Given the description of an element on the screen output the (x, y) to click on. 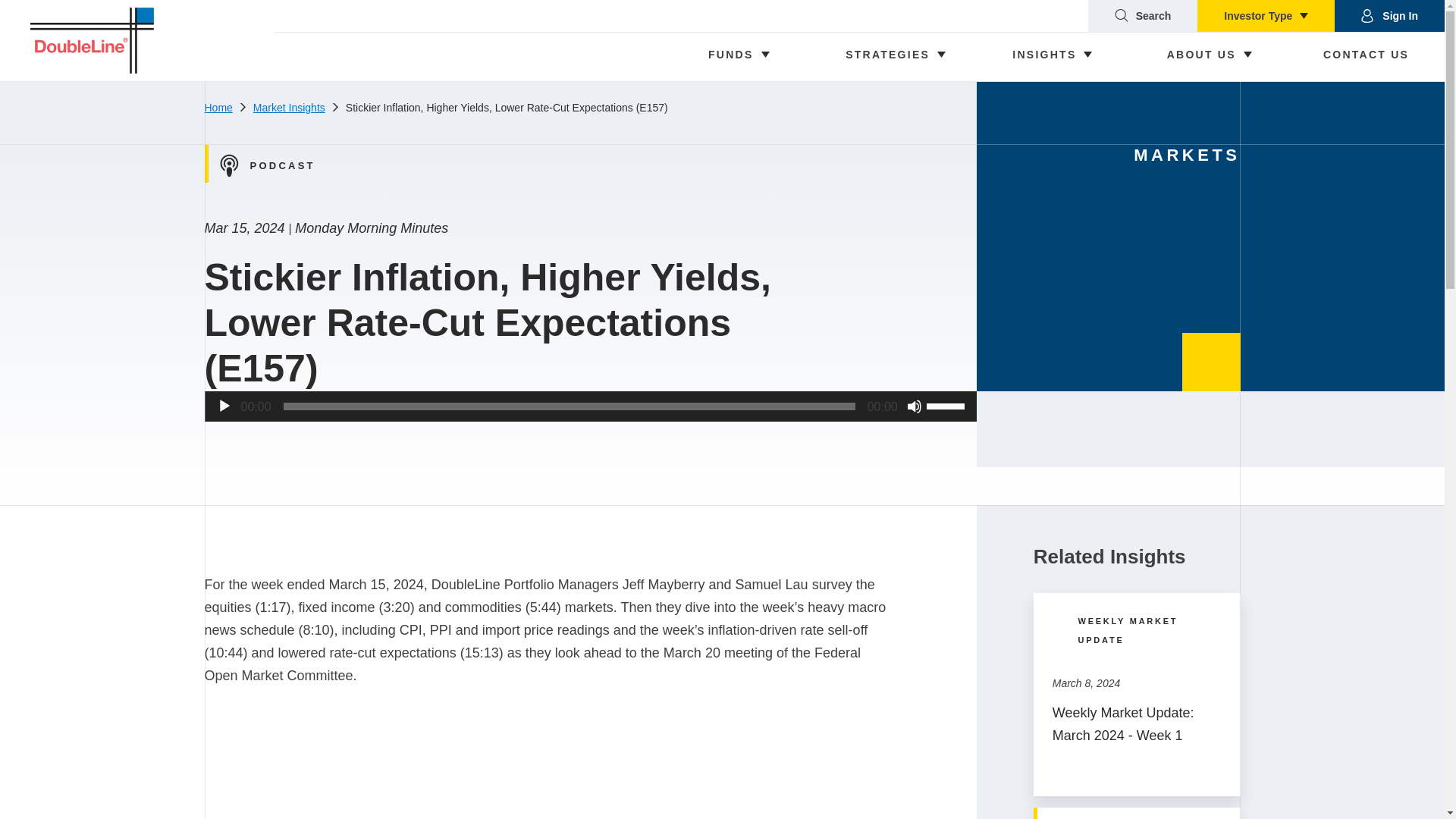
Play (223, 406)
Mute (914, 406)
